Given the description of an element on the screen output the (x, y) to click on. 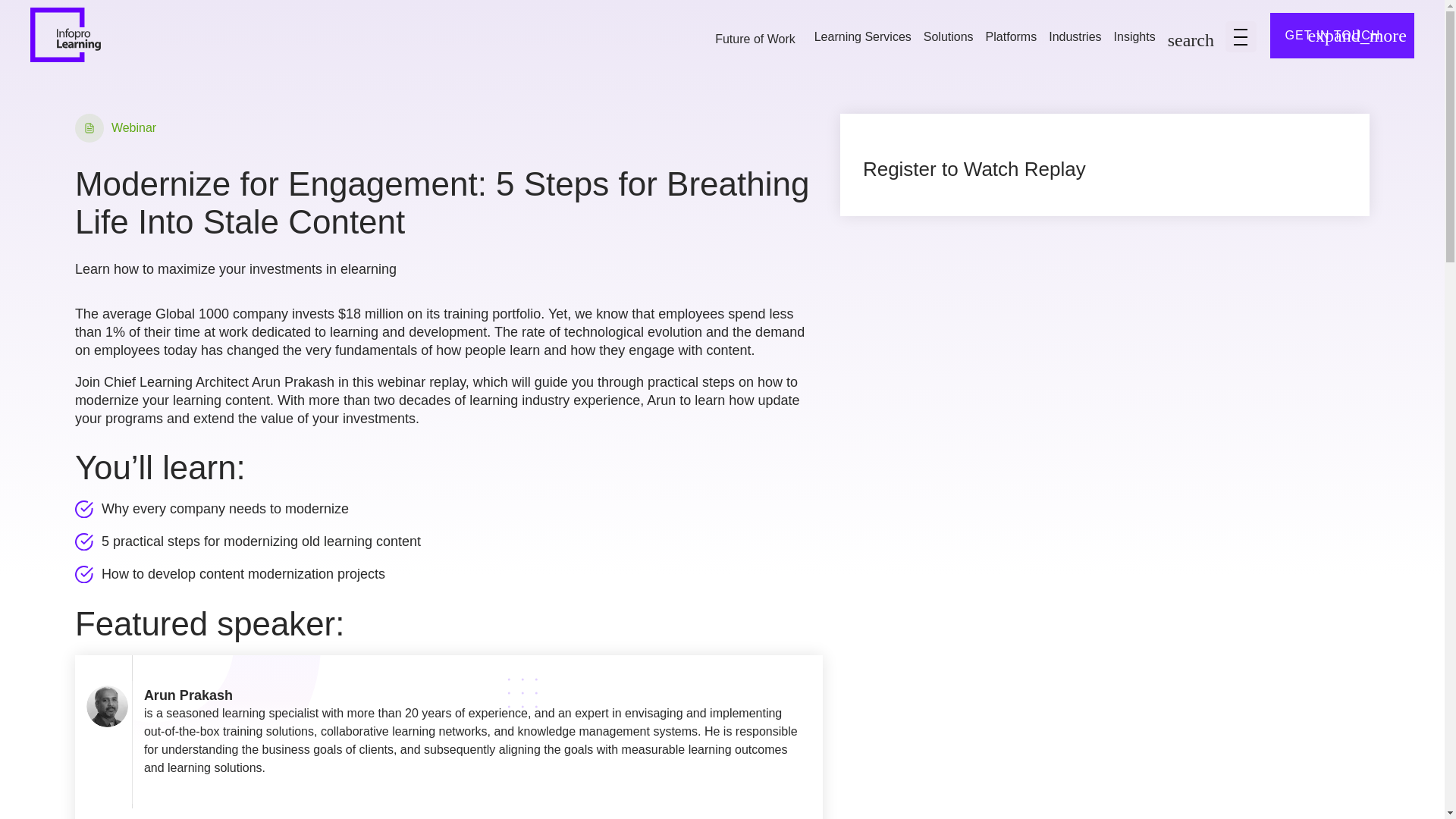
Learning Services (862, 37)
Solutions (948, 37)
Future of Work (754, 38)
Platforms (1010, 37)
